Given the description of an element on the screen output the (x, y) to click on. 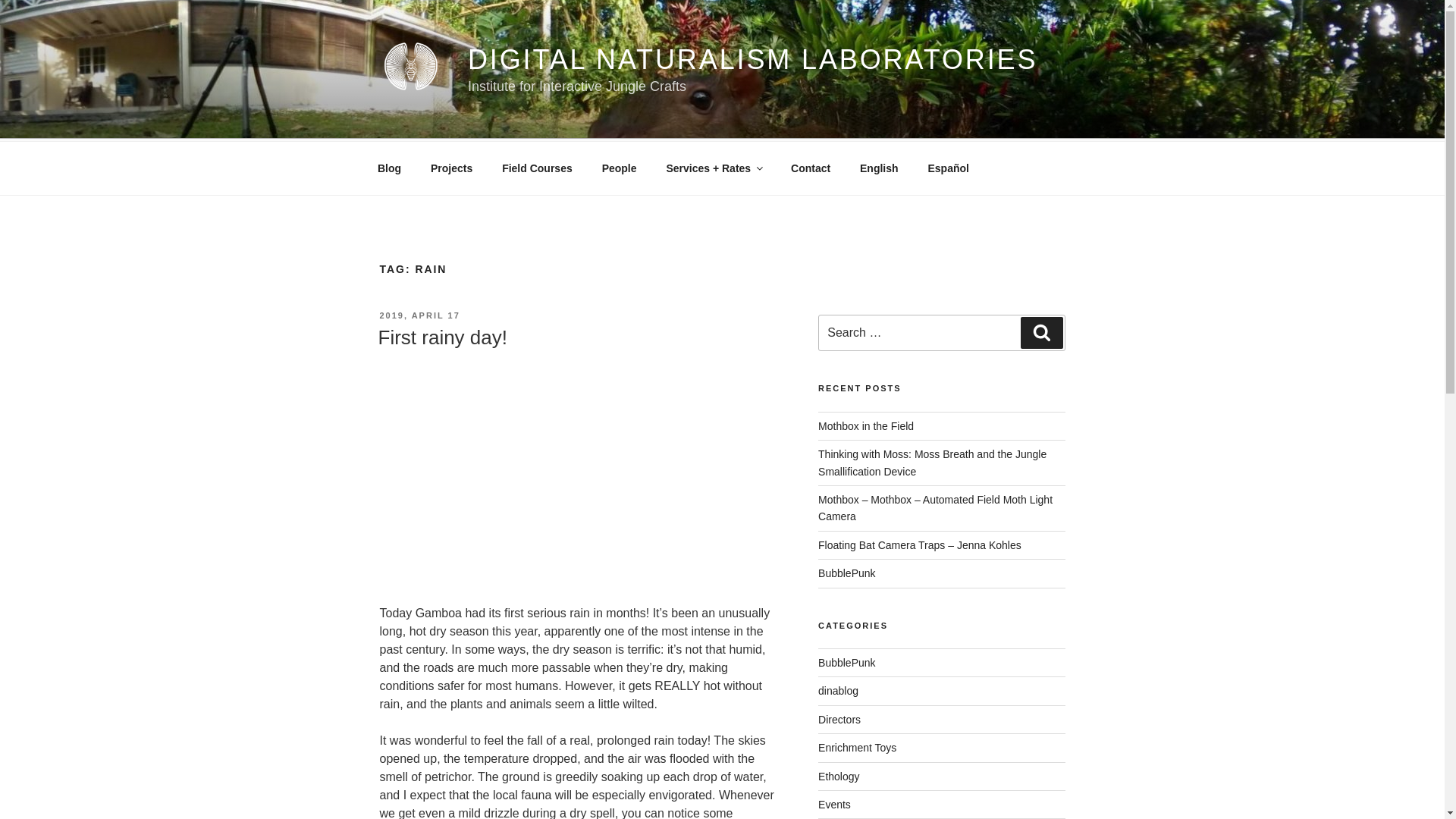
2019, APRIL 17 (419, 315)
BubblePunk (847, 662)
BubblePunk (847, 573)
First rainy day! (441, 336)
Projects (450, 168)
Contact (810, 168)
English (879, 168)
People (618, 168)
Enrichment Toys (857, 747)
Field Courses (537, 168)
DIGITAL NATURALISM LABORATORIES (751, 59)
Search (1041, 332)
Blog (388, 168)
dinablog (838, 690)
